Given the description of an element on the screen output the (x, y) to click on. 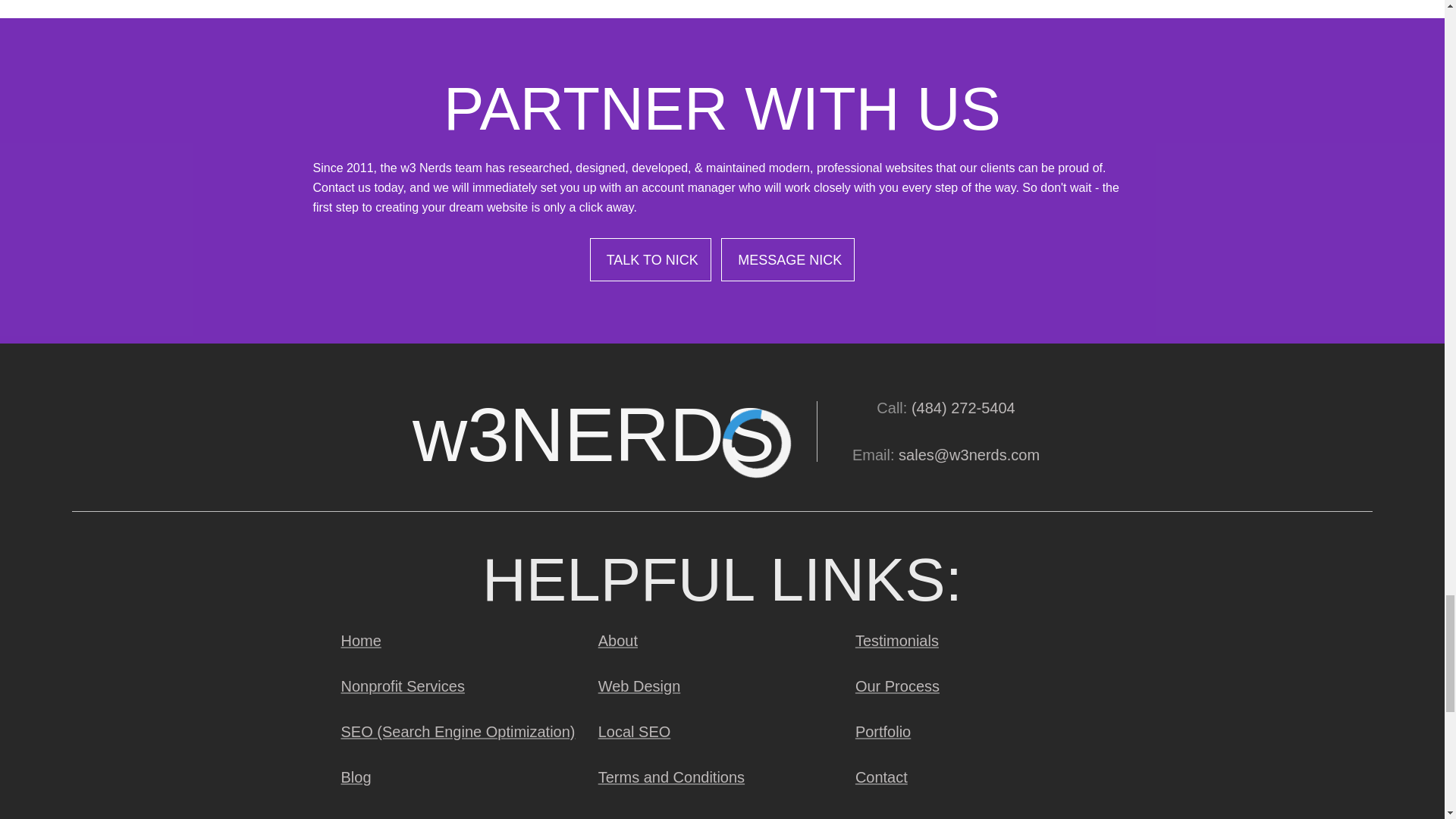
MESSAGE NICK (787, 259)
Testimonials (896, 640)
Home (359, 640)
About (617, 640)
TALK TO NICK (650, 259)
w3NERDS (593, 430)
